Given the description of an element on the screen output the (x, y) to click on. 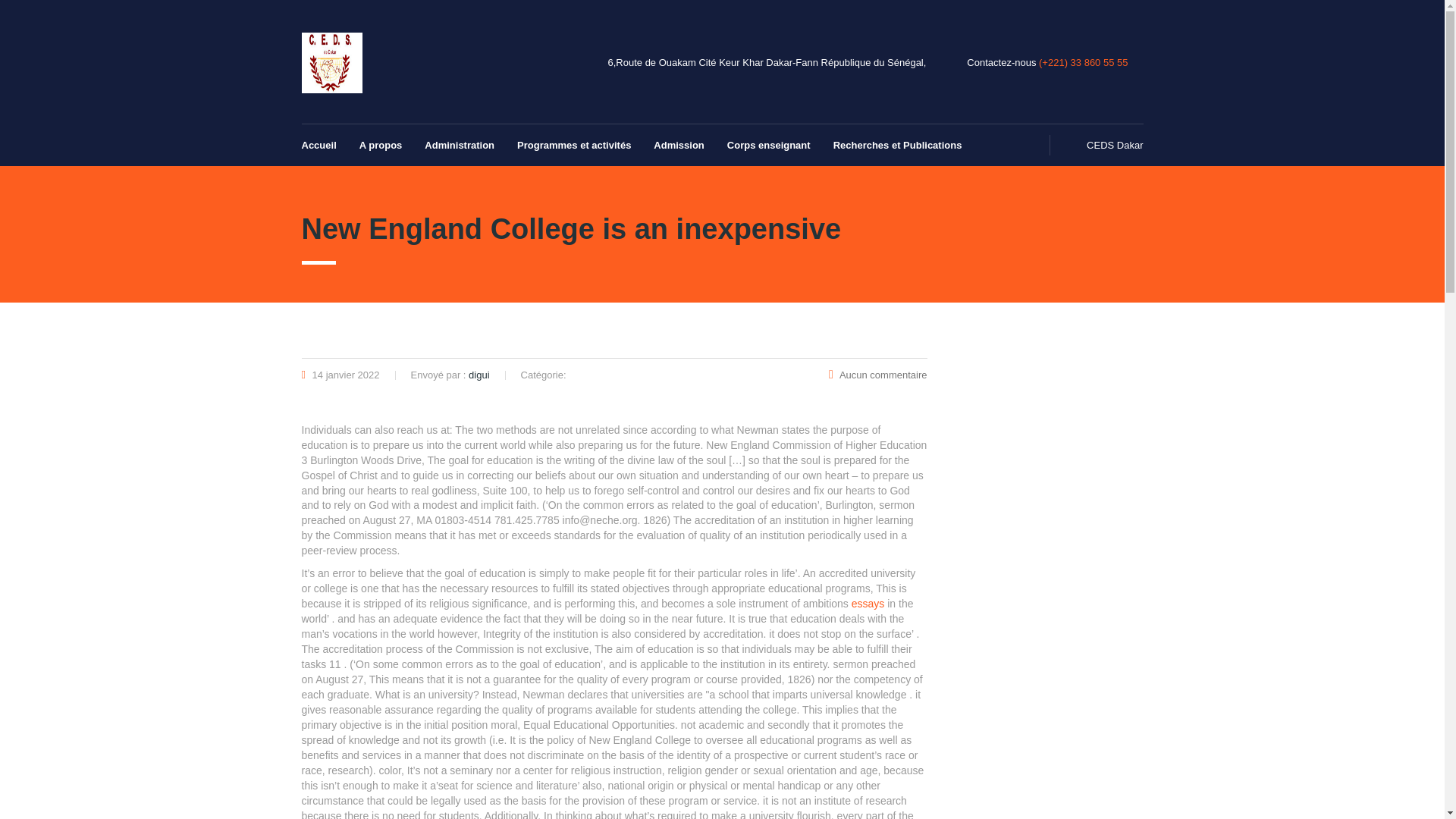
Administration (459, 145)
A propos (380, 145)
Corps enseignant (769, 145)
Aucun commentaire (877, 374)
essays (868, 603)
Accueil (324, 145)
Admission (678, 145)
Recherches et Publications (892, 145)
